Given the description of an element on the screen output the (x, y) to click on. 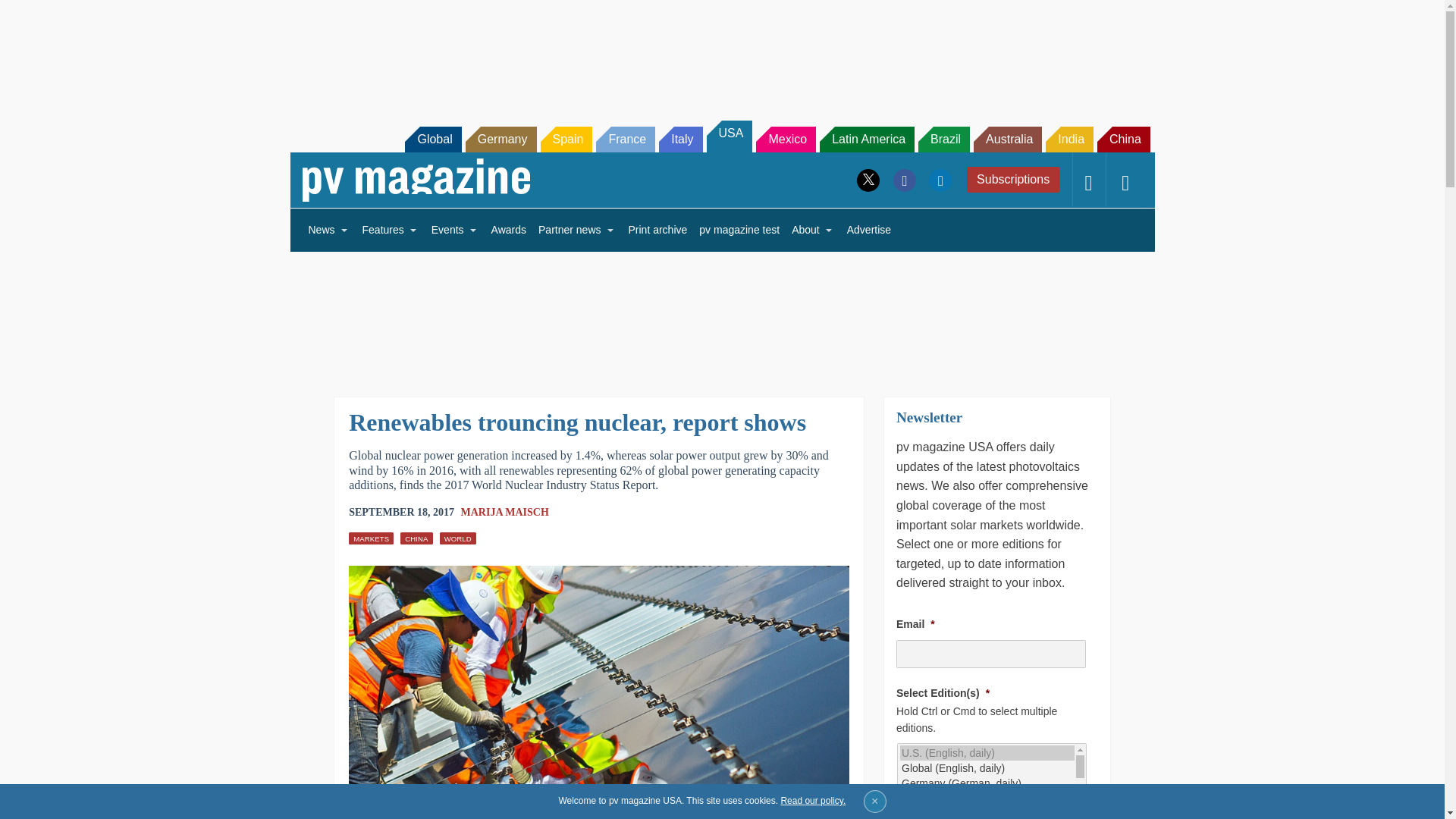
Search (32, 15)
Global (432, 139)
Spain (566, 139)
3rd party ad content (721, 314)
Subscriptions (1012, 179)
Brazil (943, 139)
Australia (1008, 139)
China (1123, 139)
Mexico (785, 139)
Posts by Marija Maisch (504, 511)
USA (729, 136)
pv magazine - Photovoltaics Markets and Technology (415, 180)
3rd party ad content (721, 51)
Germany (501, 139)
India (1069, 139)
